Given the description of an element on the screen output the (x, y) to click on. 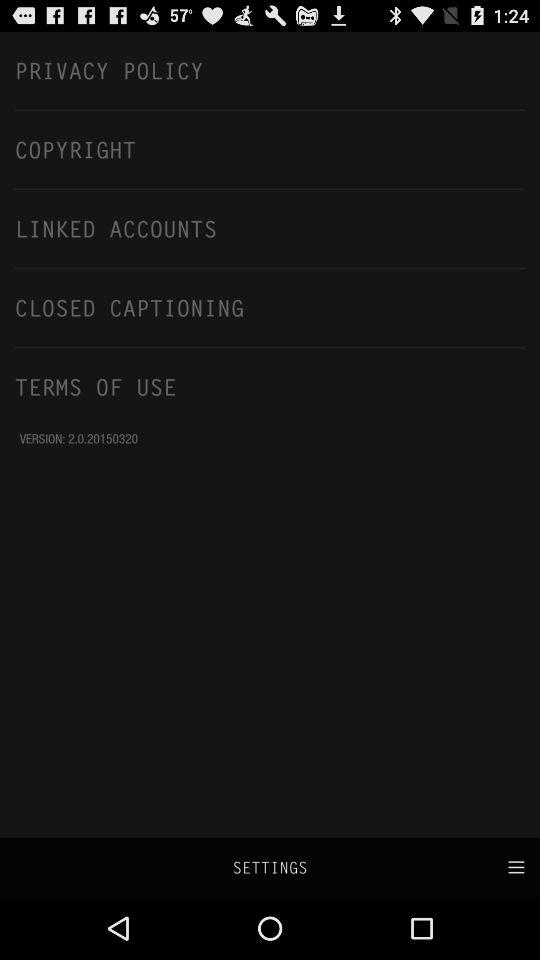
swipe until linked accounts (270, 228)
